Given the description of an element on the screen output the (x, y) to click on. 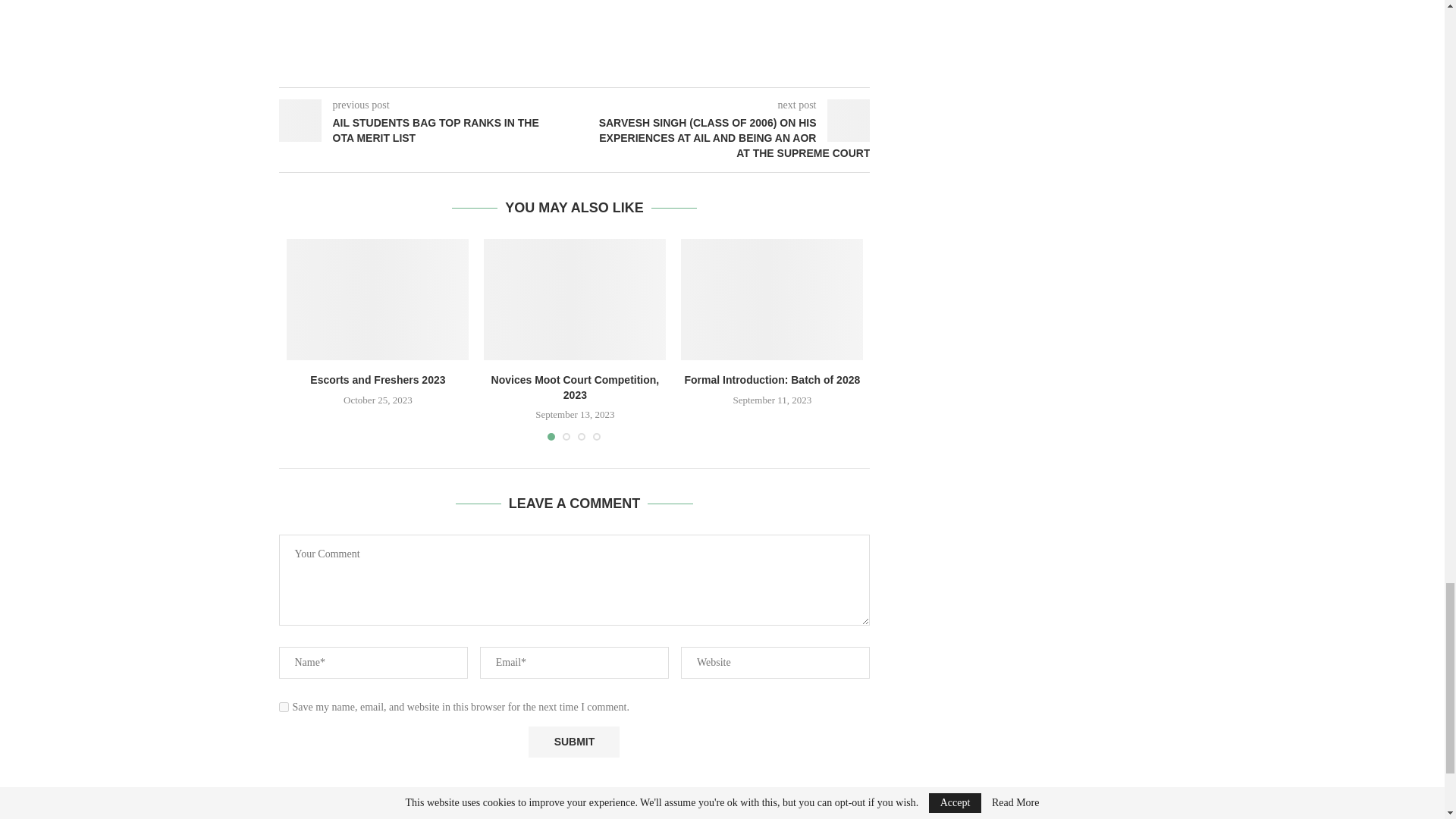
Novices Moot Court Competition, 2023 (574, 299)
yes (283, 706)
Escorts and Freshers 2023 (377, 299)
Formal Introduction: Batch of 2028 (772, 299)
Submit (574, 741)
